Given the description of an element on the screen output the (x, y) to click on. 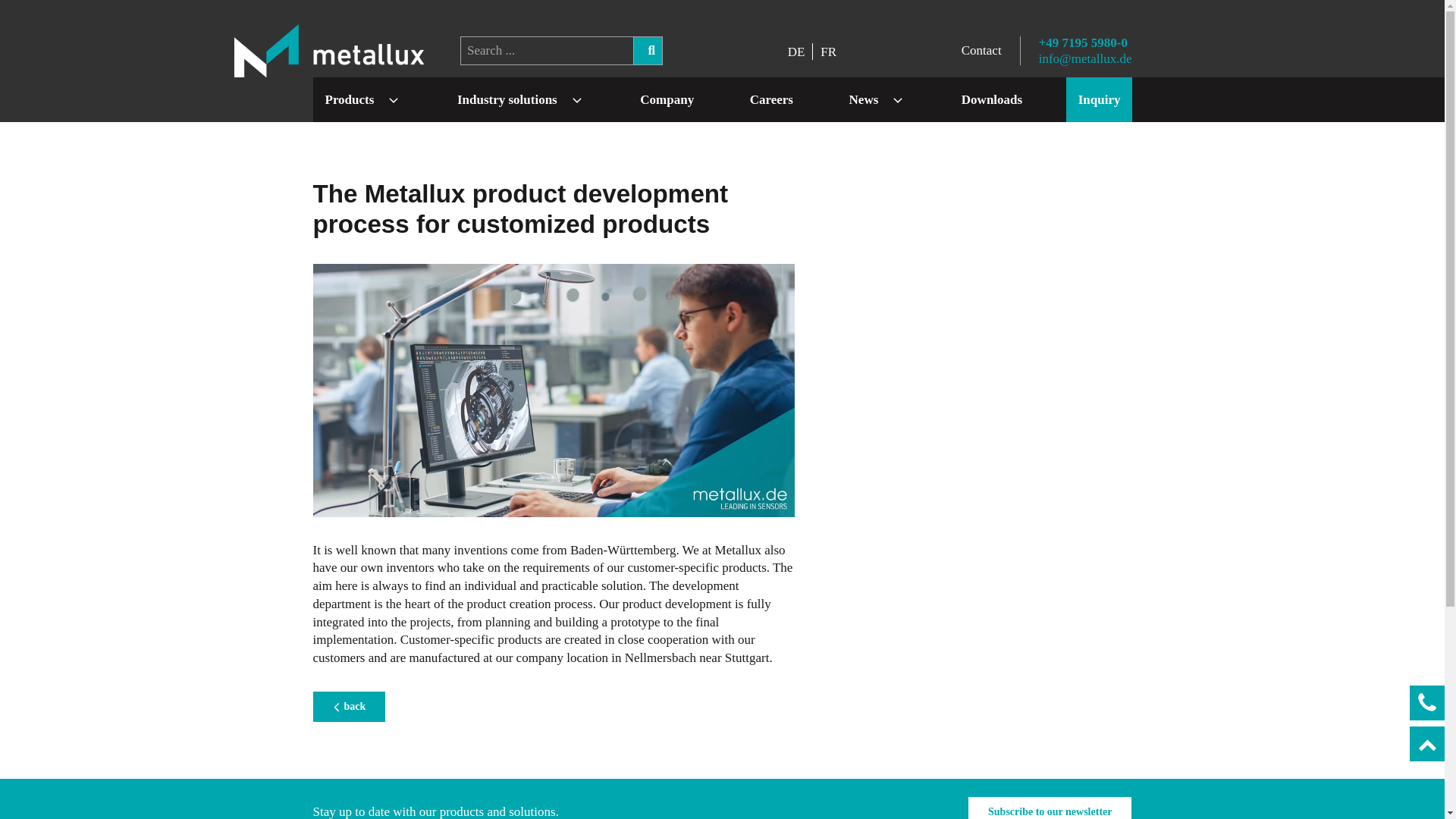
Industry solutions (507, 99)
Products (349, 99)
Contact (980, 50)
Search (648, 51)
DE (796, 51)
FR (828, 51)
Search (648, 51)
